Given the description of an element on the screen output the (x, y) to click on. 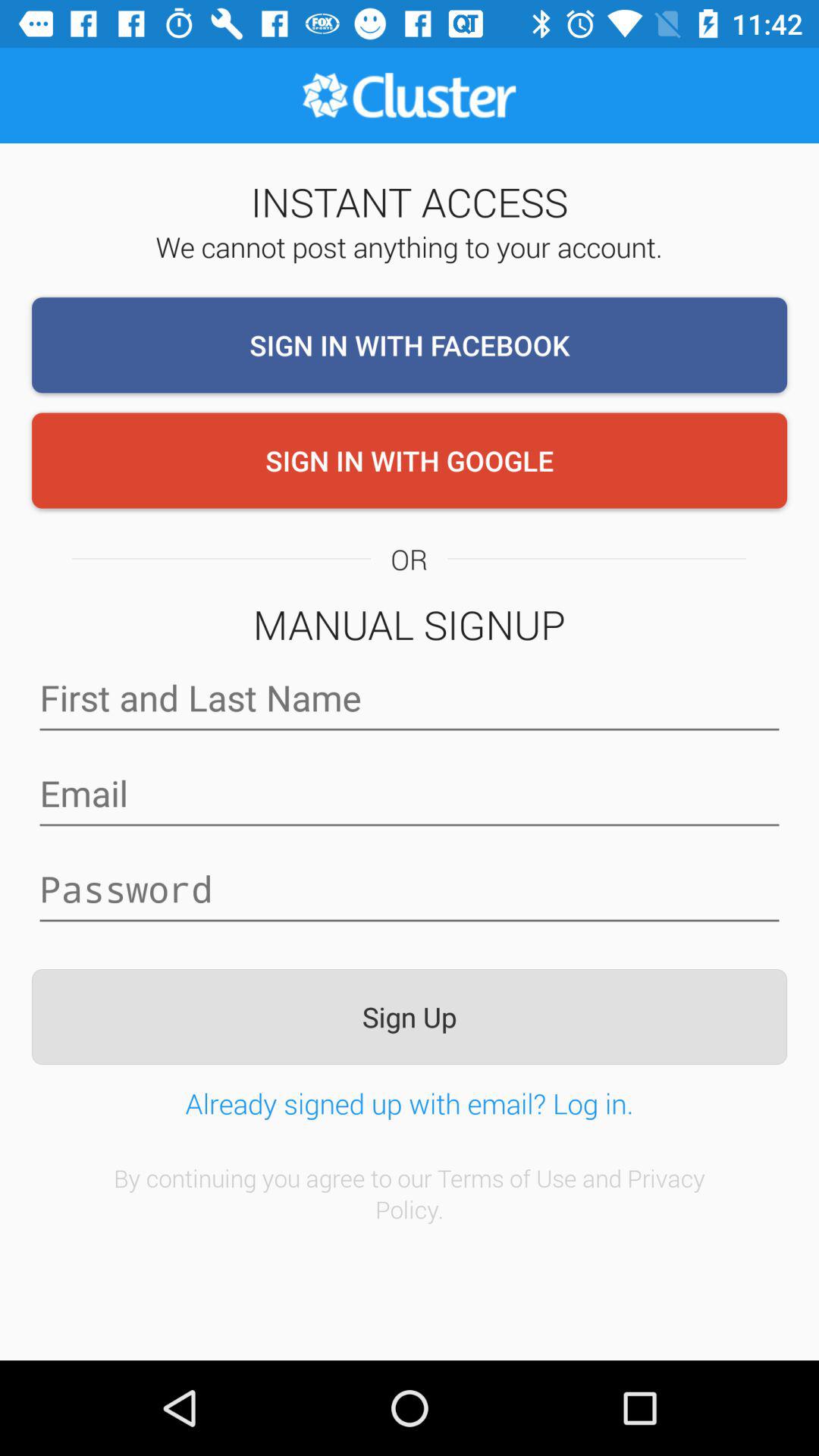
enter password credentials (409, 889)
